Given the description of an element on the screen output the (x, y) to click on. 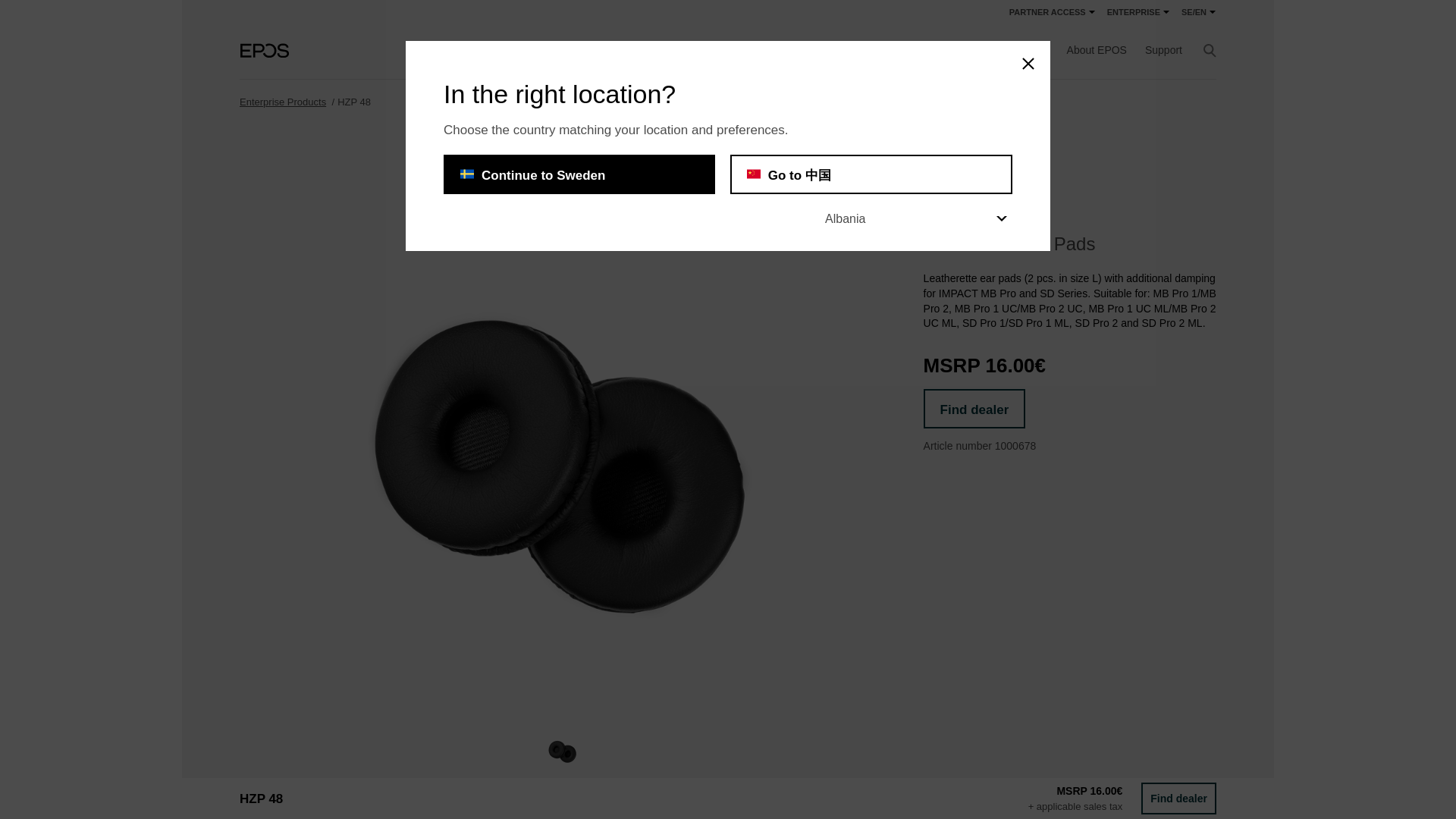
Headsets (462, 50)
Meeting Rooms (534, 50)
Headsets (462, 50)
Enterprise (337, 50)
Critical Communications (647, 50)
Enterprise (337, 50)
Meeting Rooms (534, 50)
Software (744, 50)
